Given the description of an element on the screen output the (x, y) to click on. 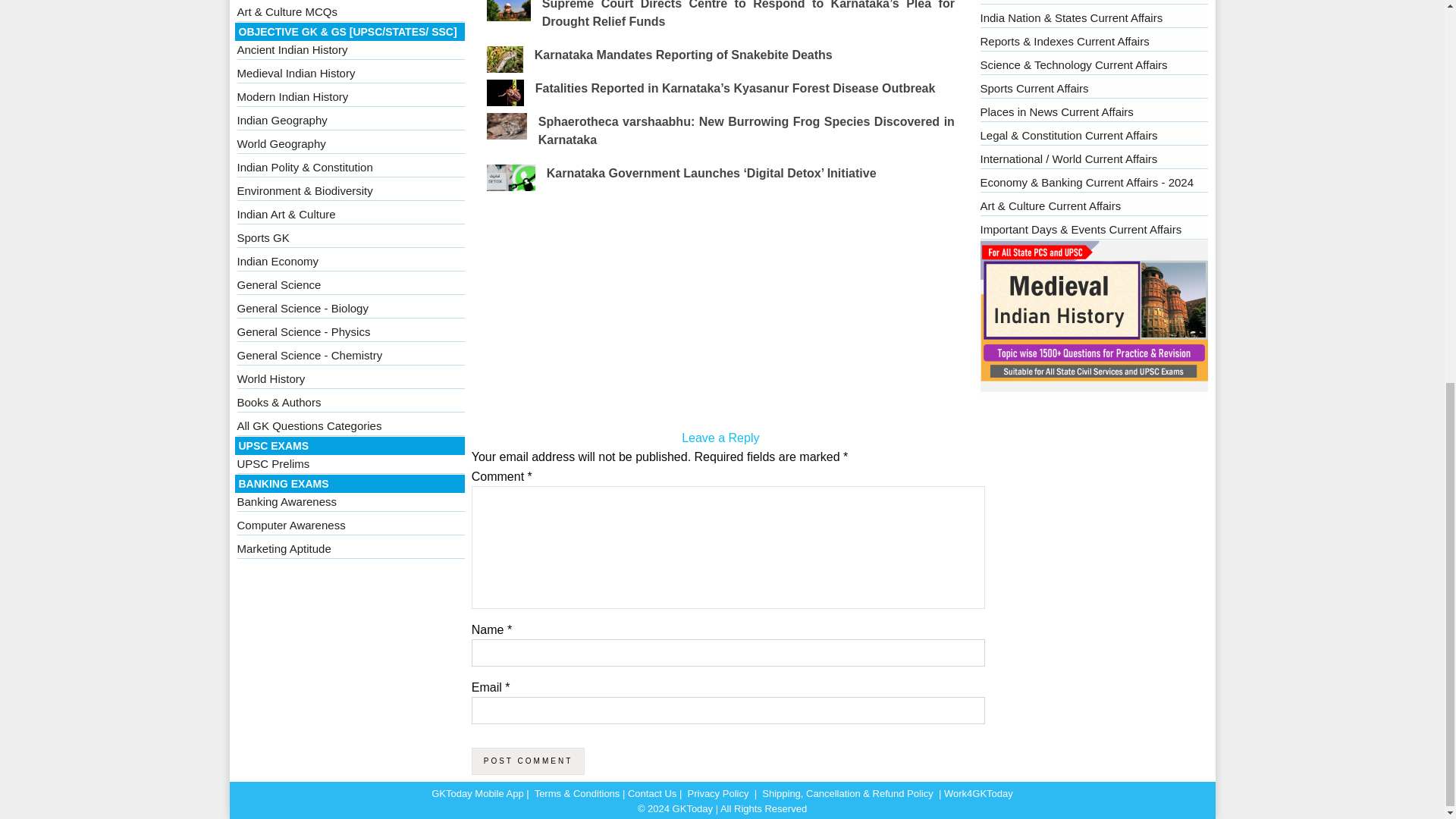
Advertisement (720, 315)
Karnataka Mandates Reporting of Snakebite Deaths (683, 54)
Karnataka Mandates Reporting of Snakebite Deaths (683, 54)
Post Comment (528, 760)
Post Comment (528, 760)
